Given the description of an element on the screen output the (x, y) to click on. 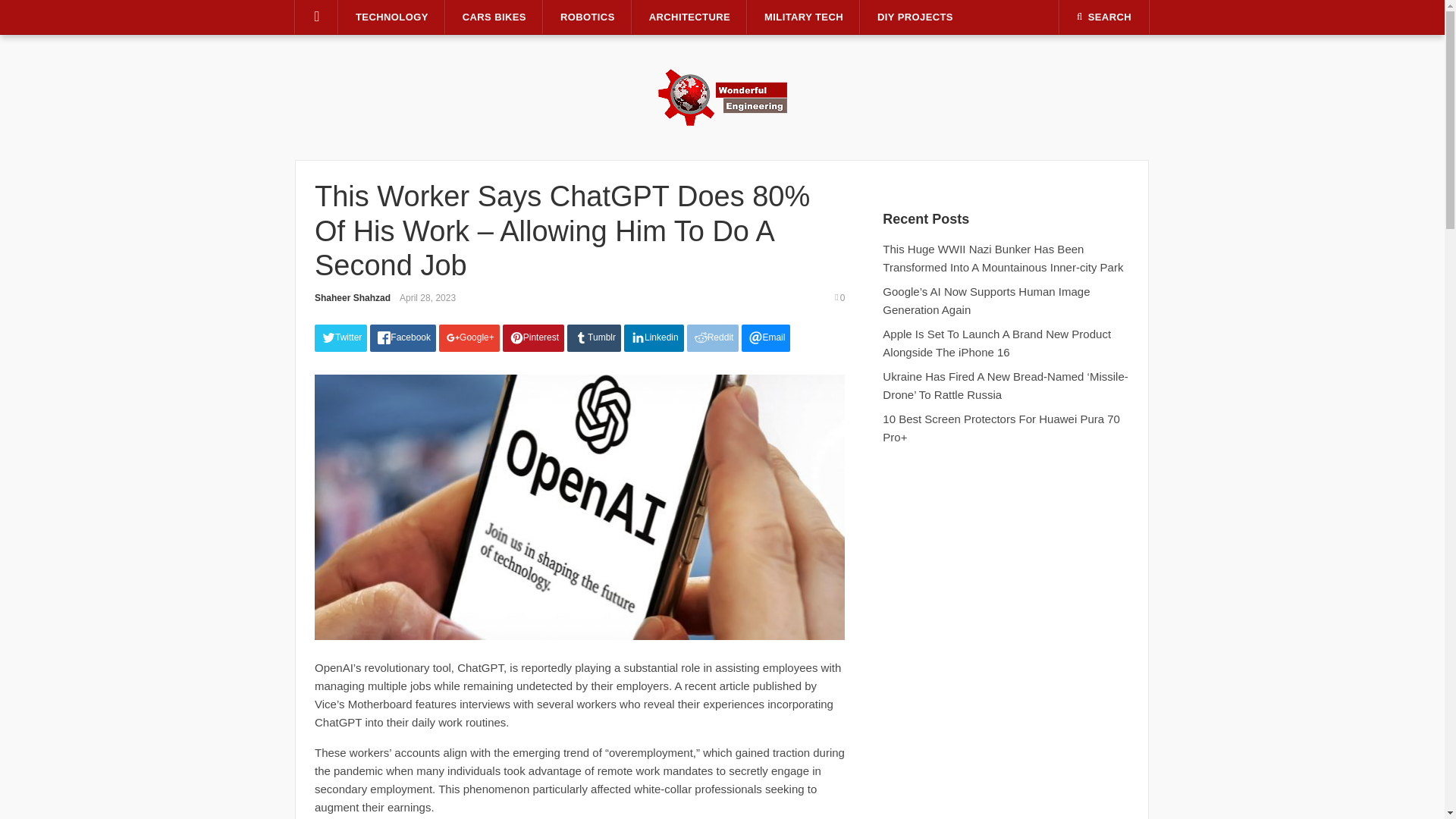
Reddit (713, 338)
Shaheer Shahzad (352, 297)
Facebook (402, 338)
DIY PROJECTS (914, 17)
MILITARY TECH (804, 17)
Linkedin (654, 338)
SEARCH (1104, 16)
CARS BIKES (494, 17)
Email (765, 338)
ROBOTICS (587, 17)
